Given the description of an element on the screen output the (x, y) to click on. 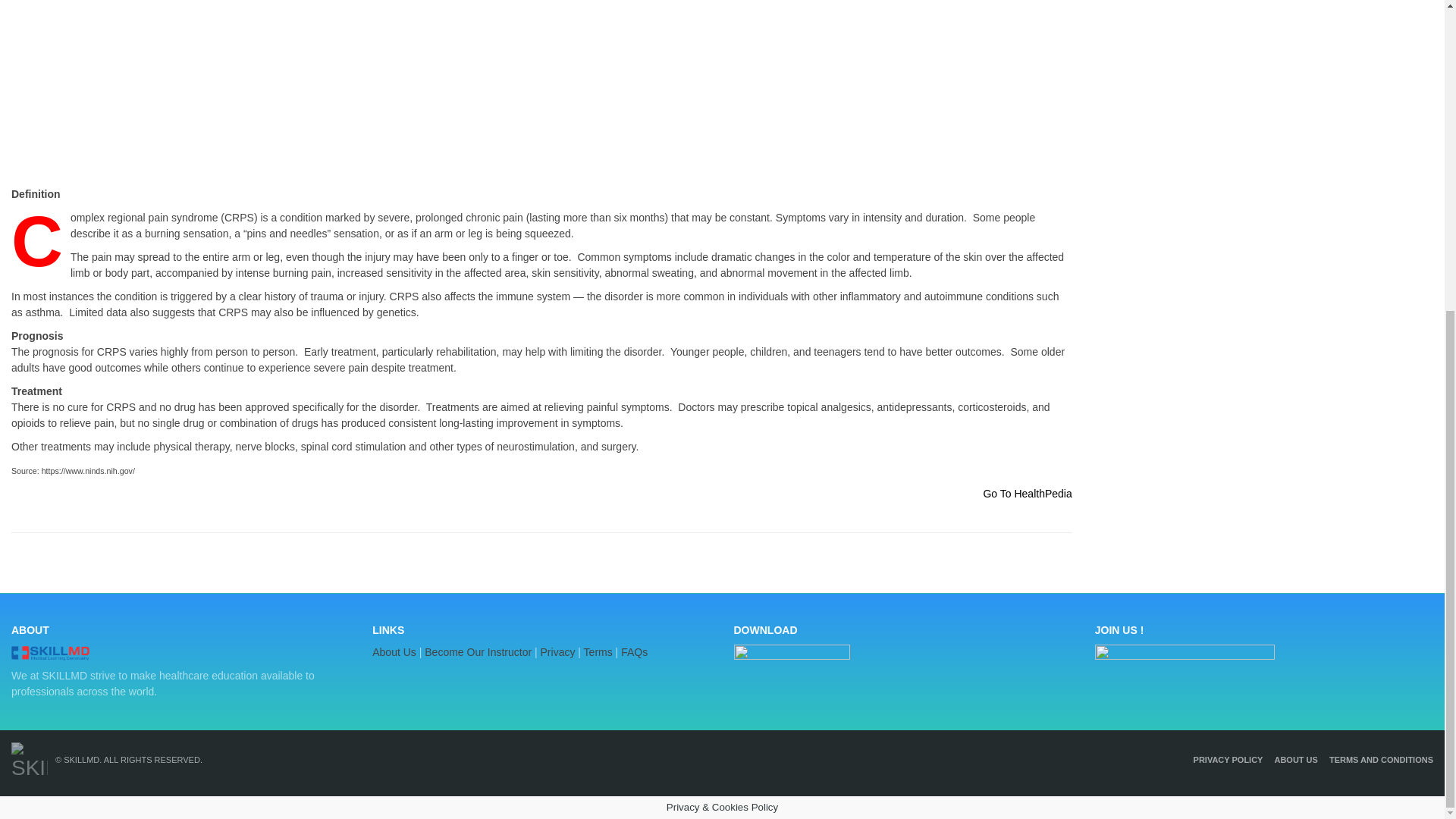
About Us (394, 652)
Go To HealthPedia (1026, 493)
Become Our Instructor (478, 652)
